Given the description of an element on the screen output the (x, y) to click on. 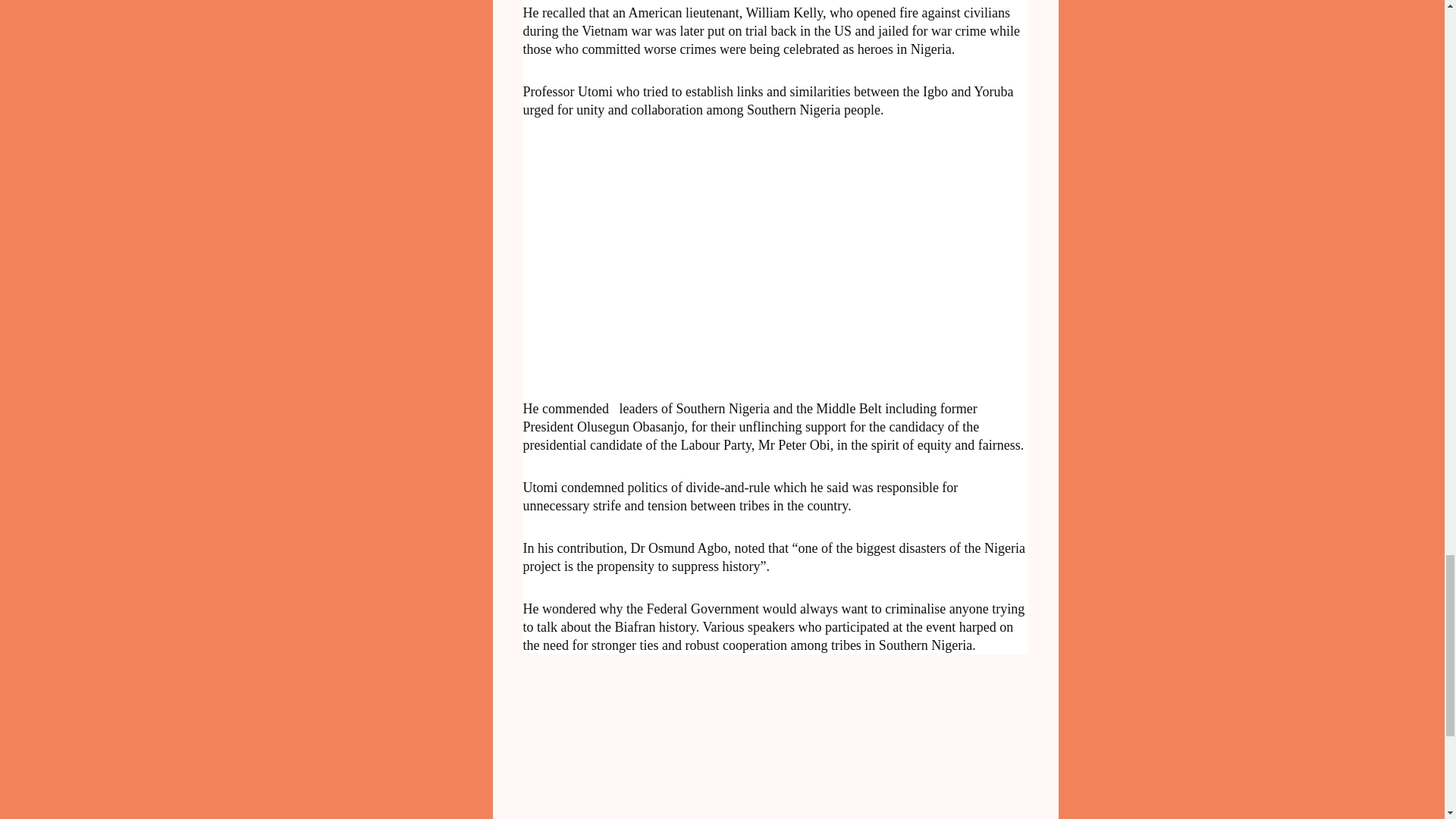
3rd party ad content (666, 257)
